Given the description of an element on the screen output the (x, y) to click on. 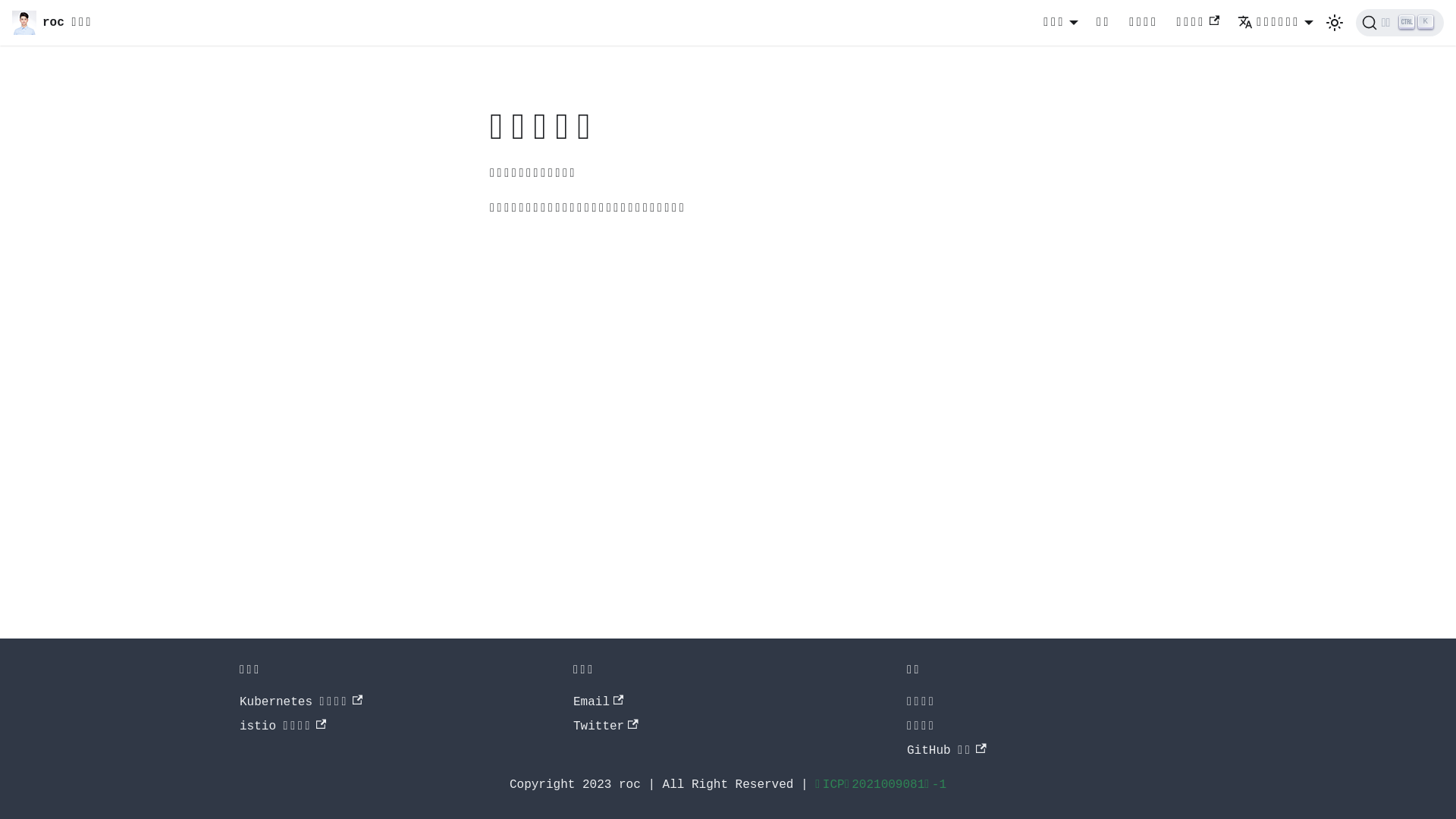
Email Element type: text (598, 702)
Twitter Element type: text (605, 726)
